Given the description of an element on the screen output the (x, y) to click on. 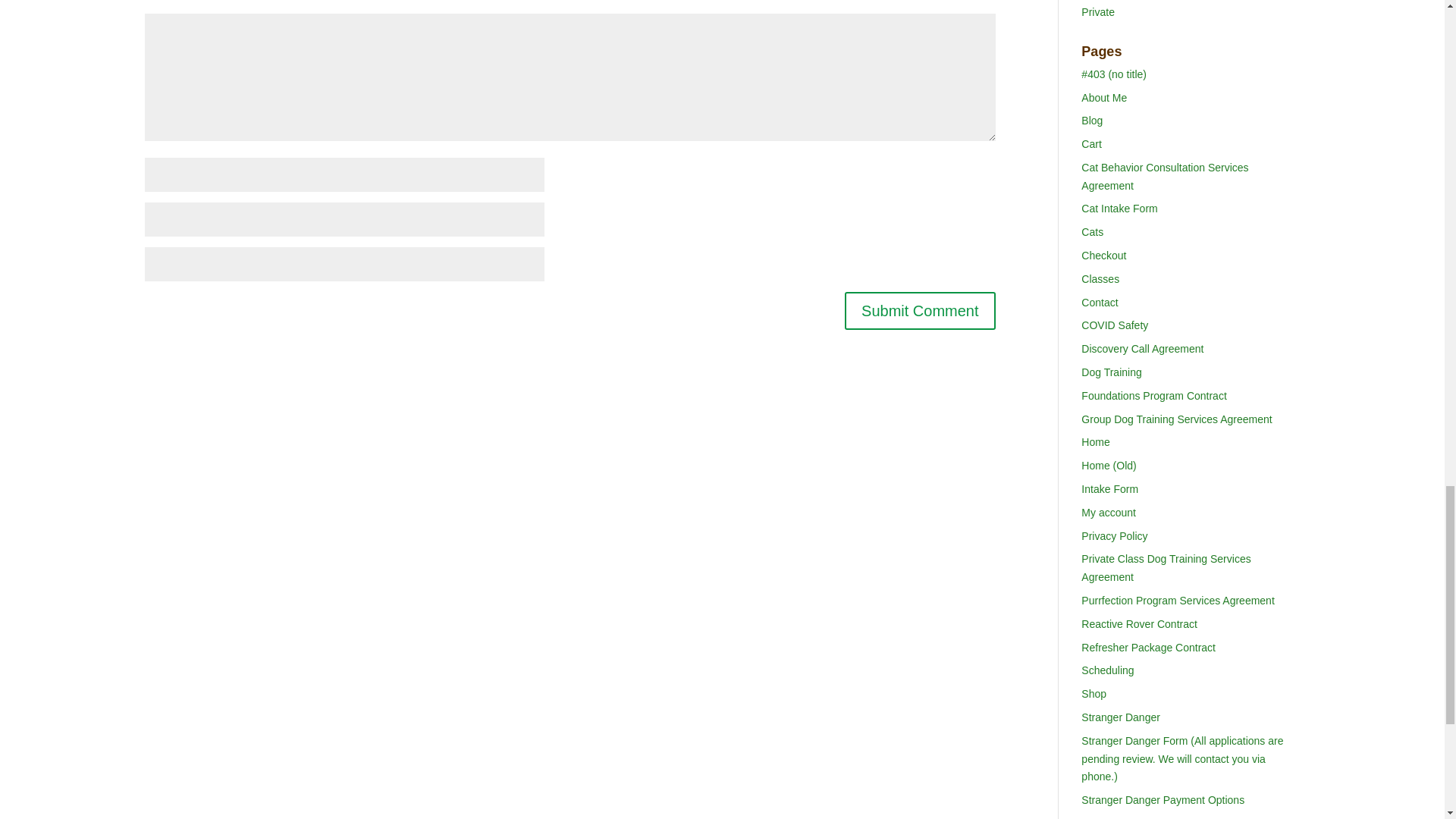
Submit Comment (919, 310)
